Given the description of an element on the screen output the (x, y) to click on. 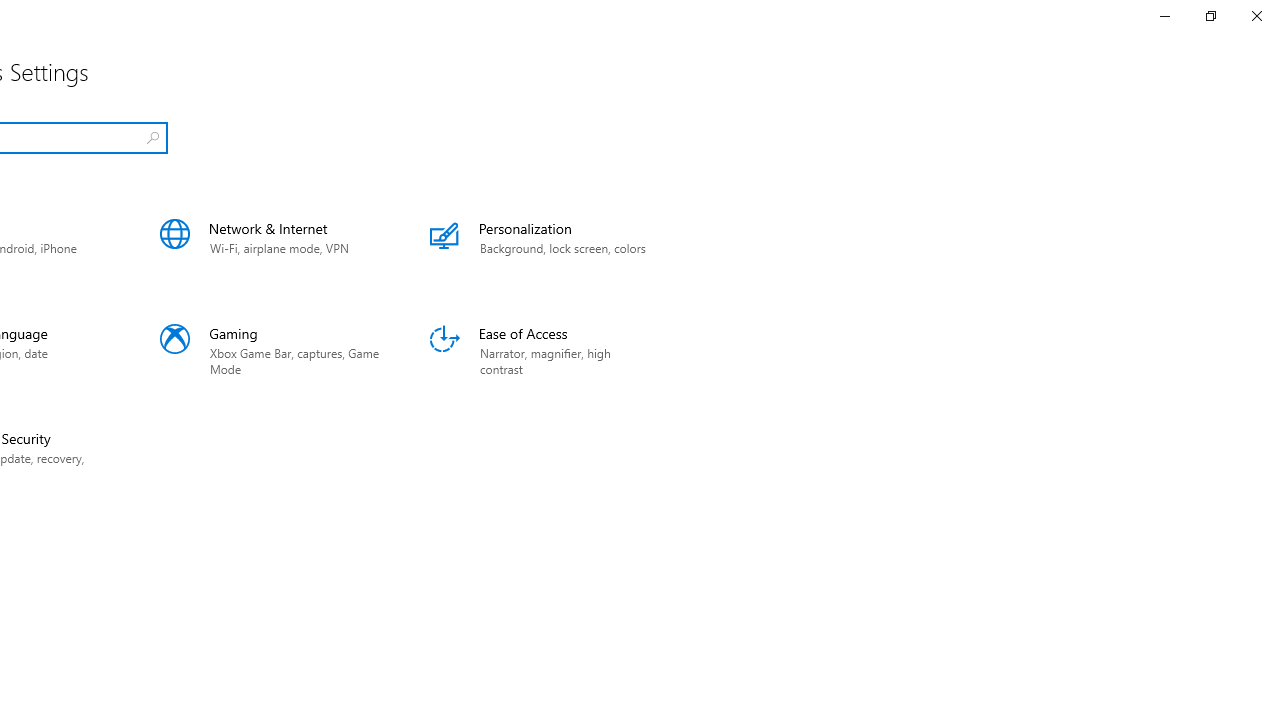
Ease of Access (539, 350)
Minimize Settings (1164, 15)
Close Settings (1256, 15)
Restore Settings (1210, 15)
Network & Internet (269, 245)
Personalization (539, 245)
Gaming (269, 350)
